Given the description of an element on the screen output the (x, y) to click on. 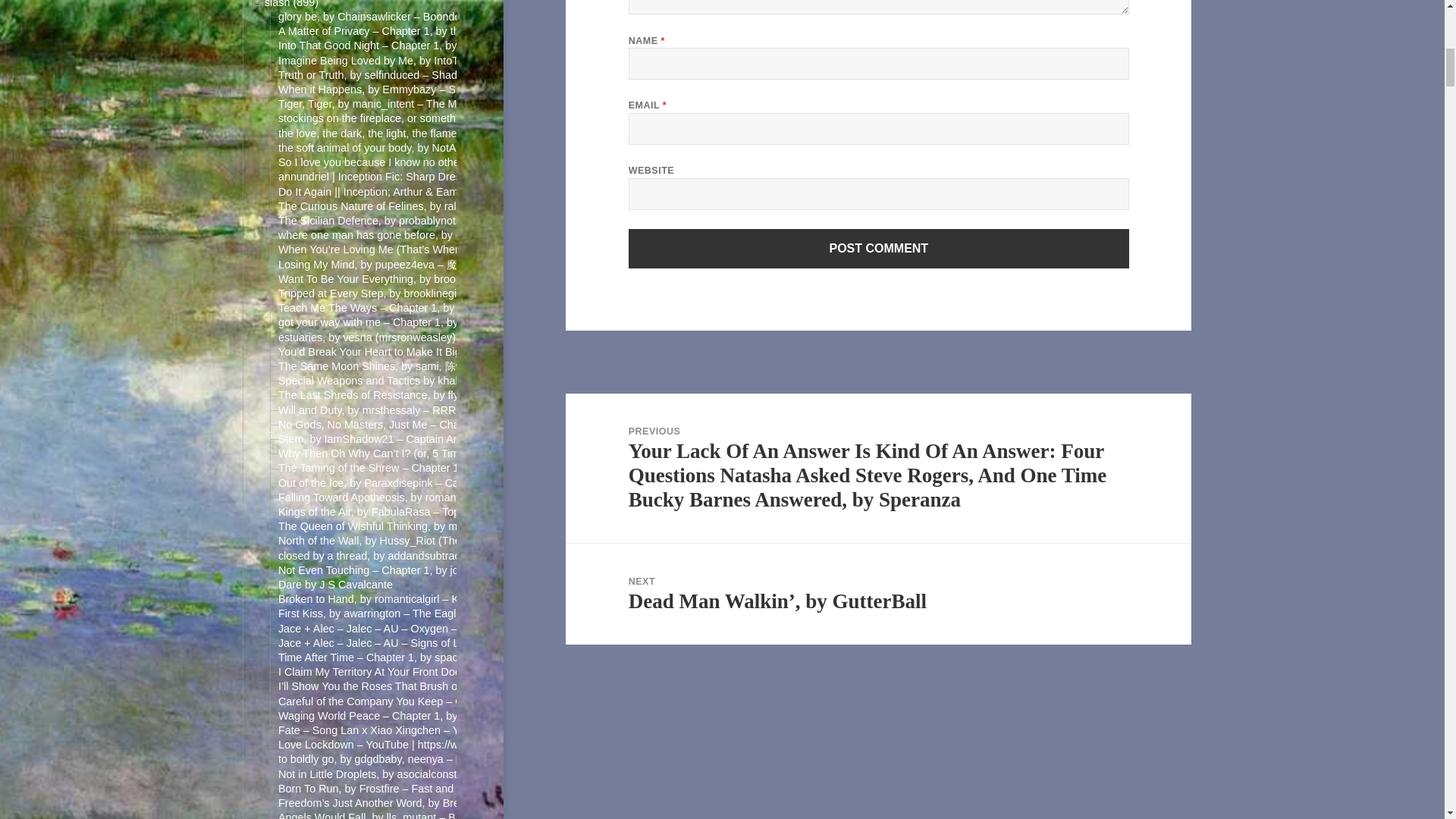
Post Comment (878, 248)
